Given the description of an element on the screen output the (x, y) to click on. 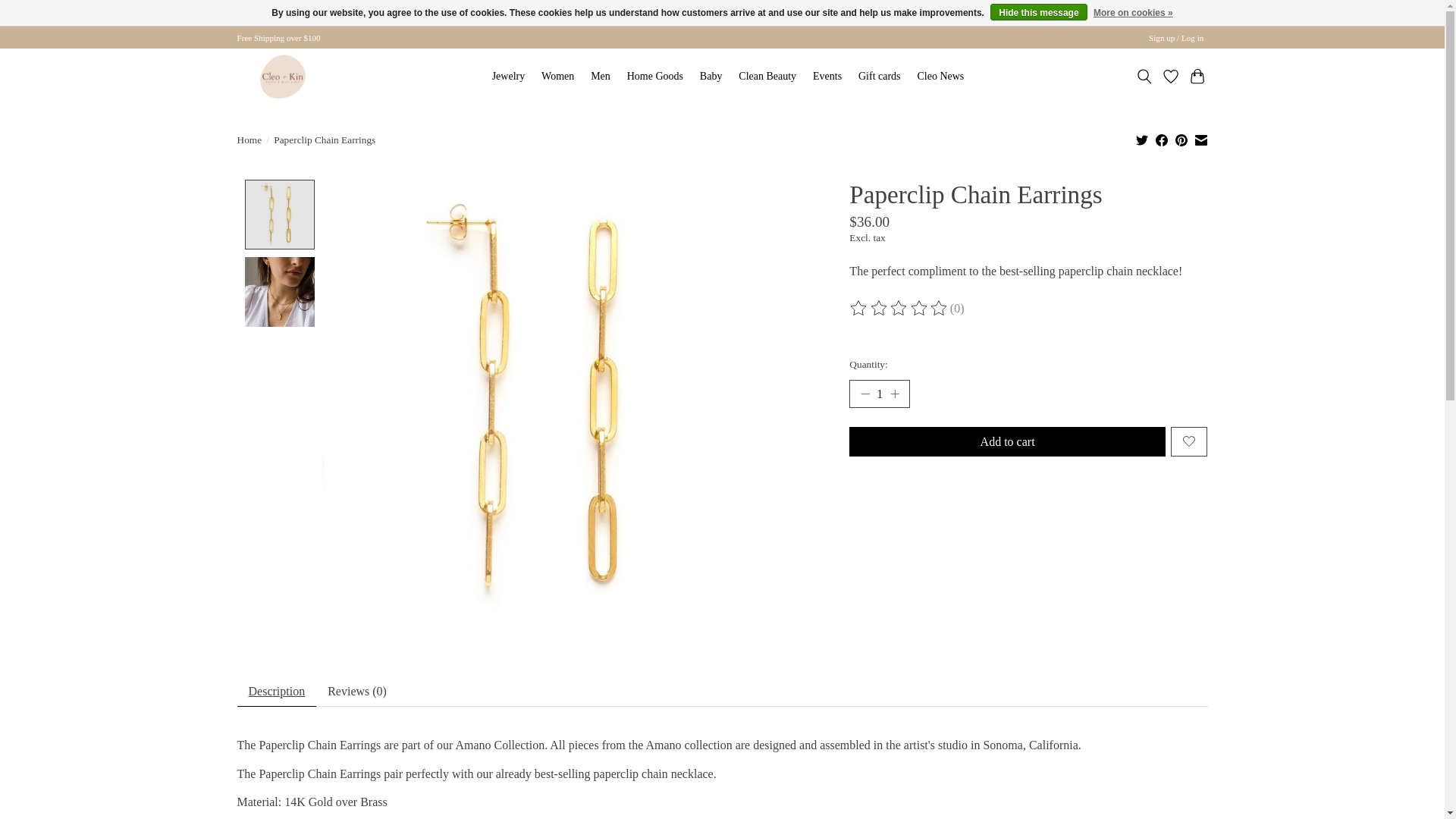
1 (879, 393)
My account (1176, 37)
Jewelry (507, 76)
Women (558, 76)
Men (600, 76)
